Given the description of an element on the screen output the (x, y) to click on. 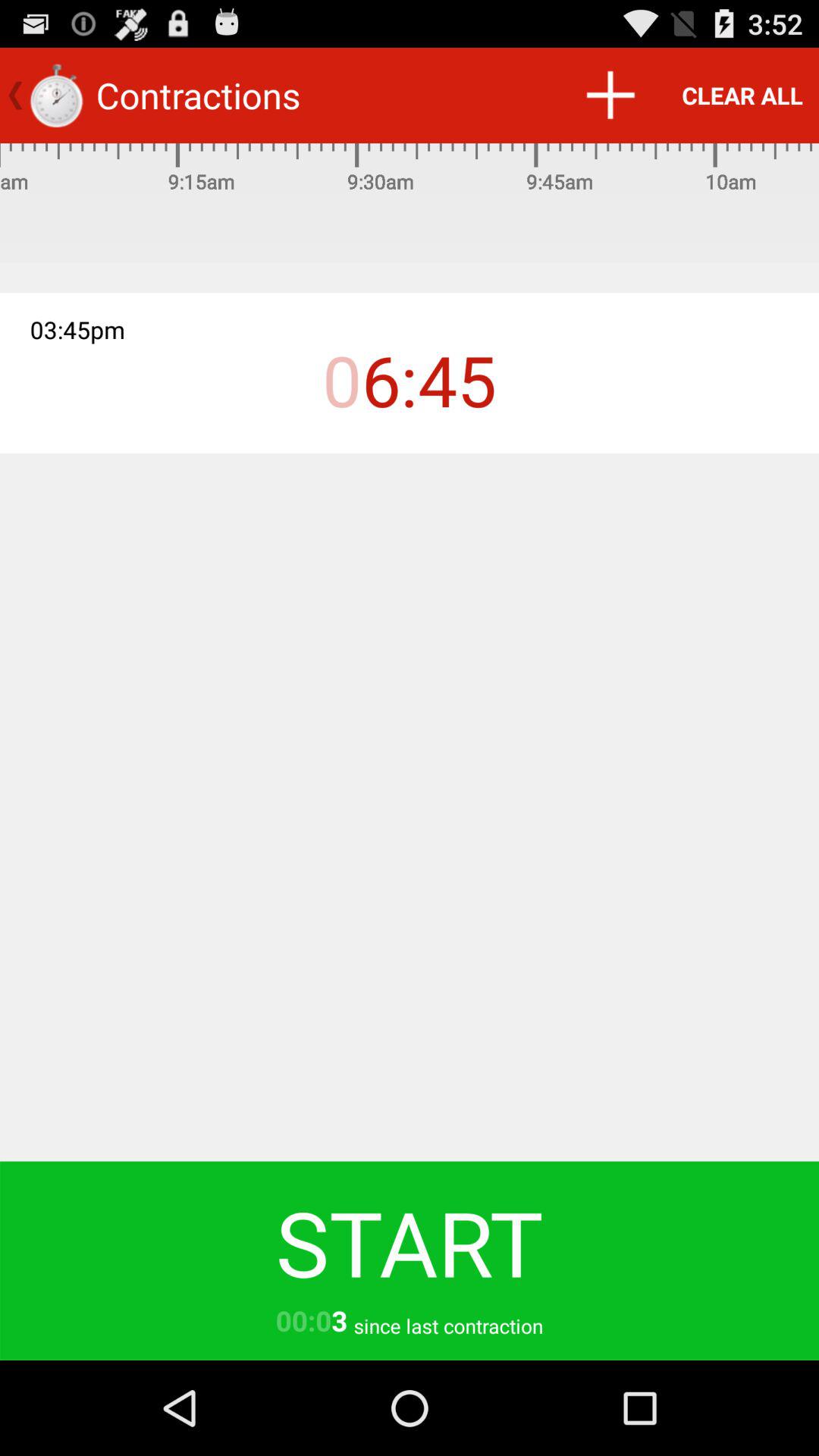
turn on the icon next to the clear all icon (610, 95)
